Given the description of an element on the screen output the (x, y) to click on. 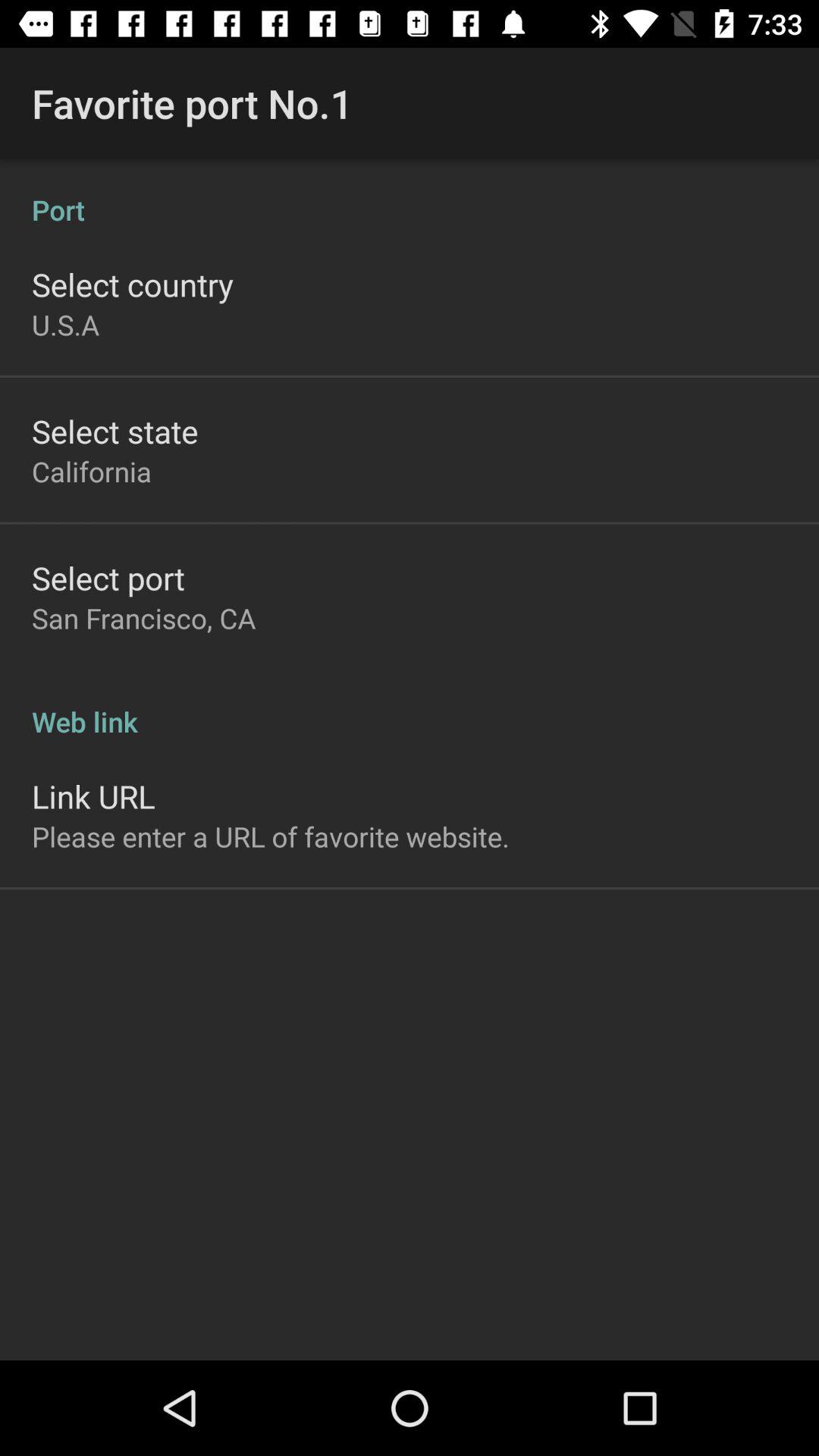
flip until u.s.a app (65, 324)
